Given the description of an element on the screen output the (x, y) to click on. 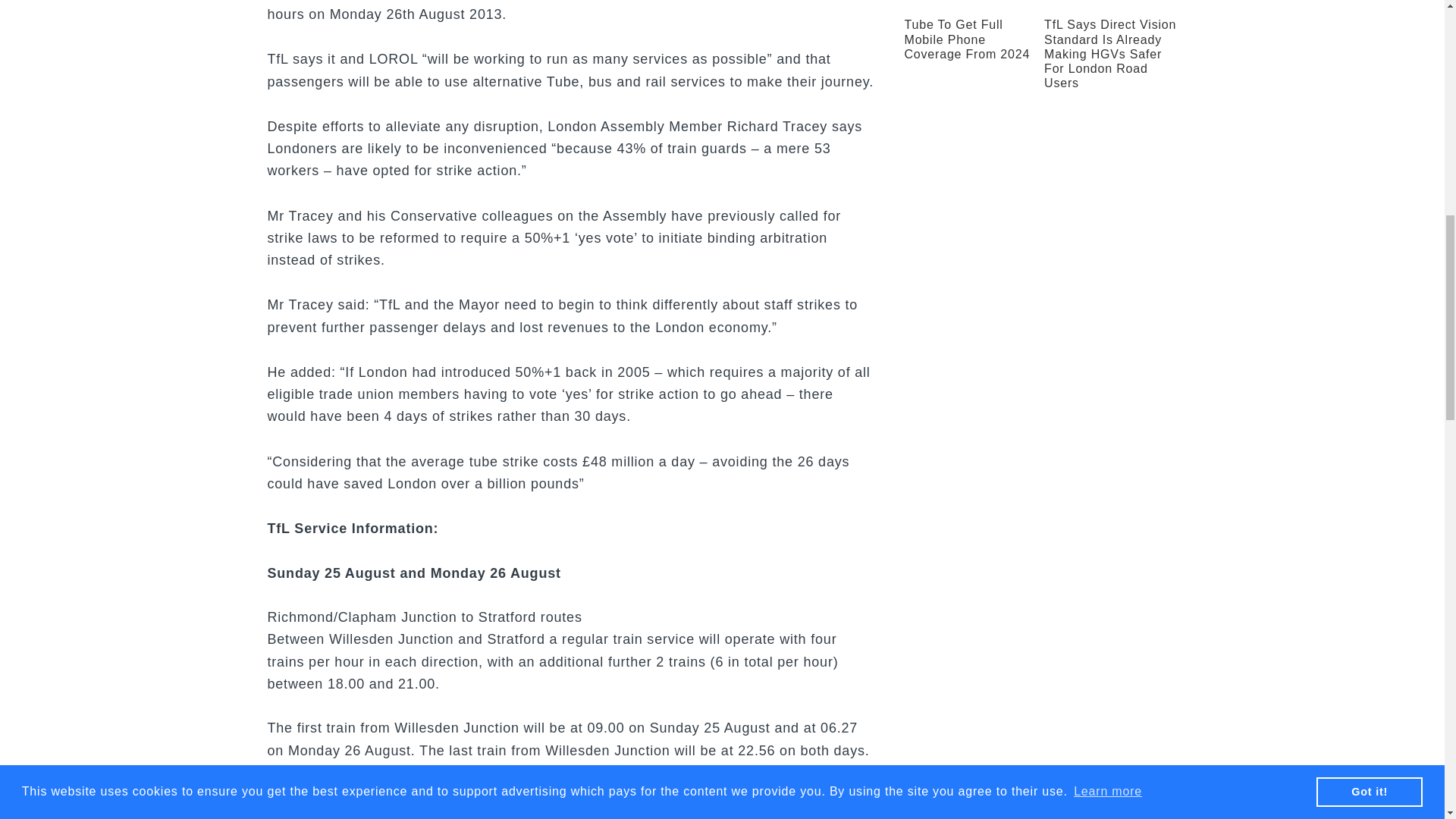
Tube To Get Full Mobile Phone Coverage From 2024 (966, 38)
